Given the description of an element on the screen output the (x, y) to click on. 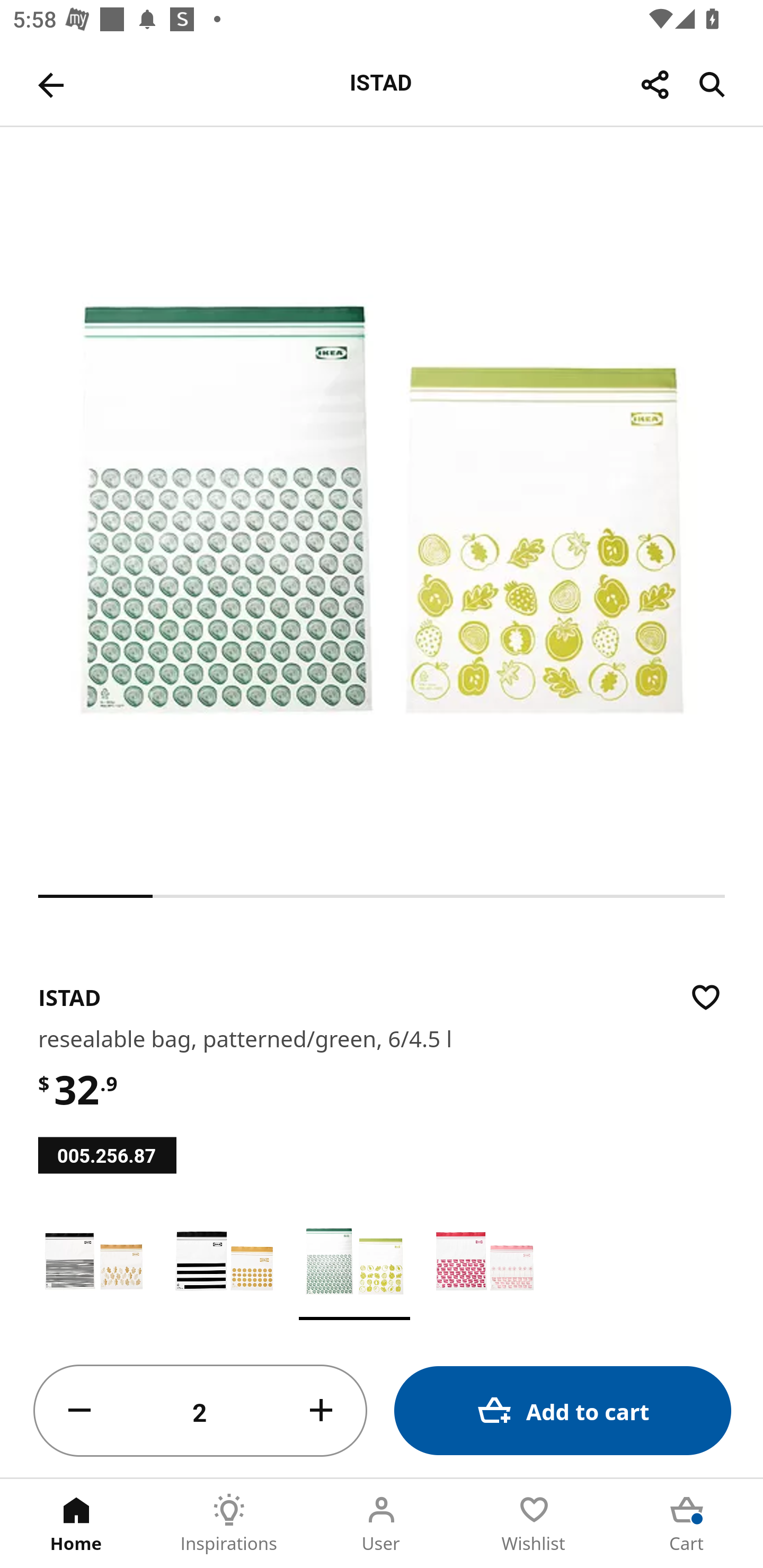
Add to cart (562, 1410)
2 (200, 1411)
Home
Tab 1 of 5 (76, 1522)
Inspirations
Tab 2 of 5 (228, 1522)
User
Tab 3 of 5 (381, 1522)
Wishlist
Tab 4 of 5 (533, 1522)
Cart
Tab 5 of 5 (686, 1522)
